Given the description of an element on the screen output the (x, y) to click on. 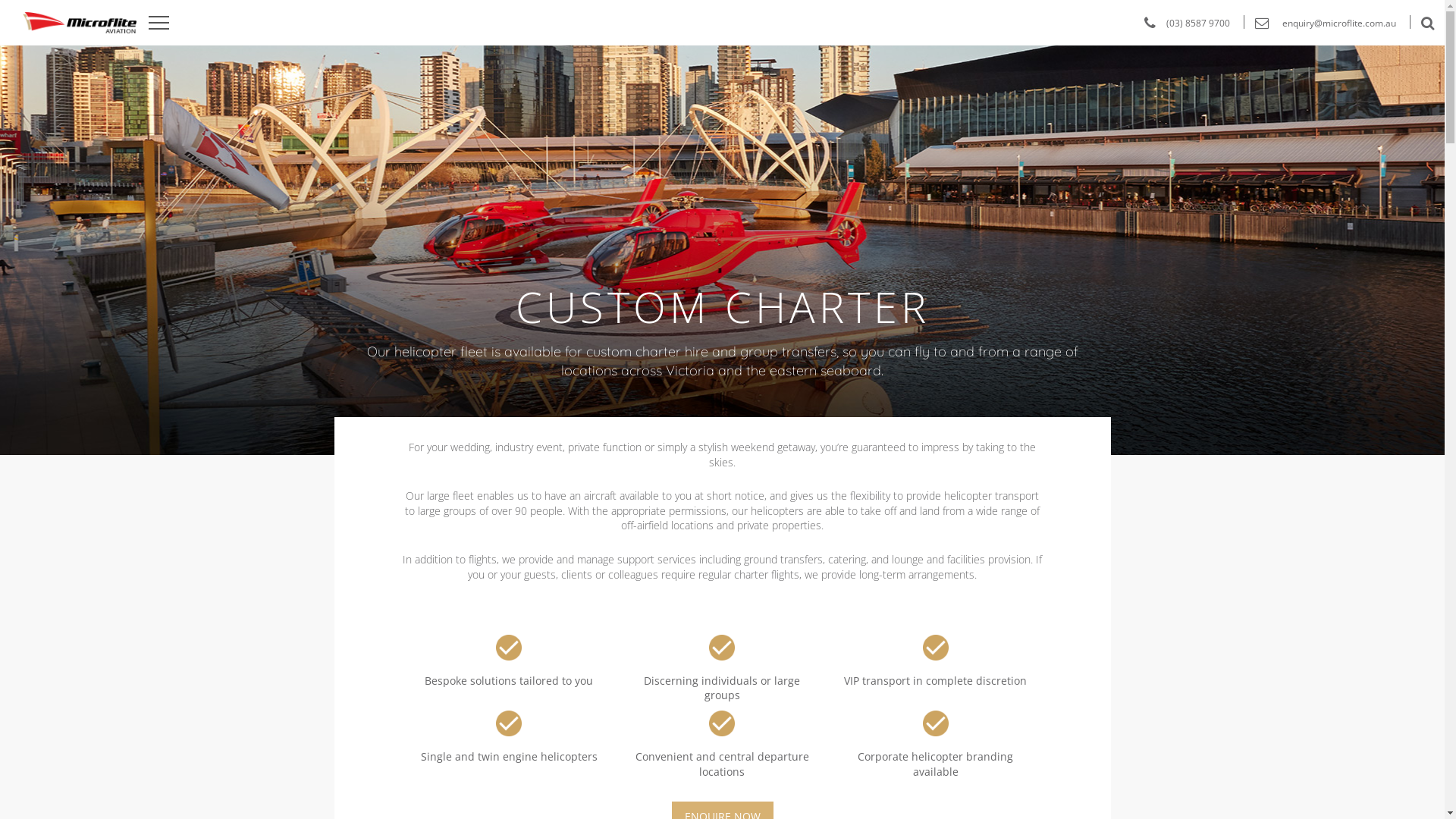
(03) 8587 9700 Element type: text (1181, 22)
enquiry@microflite.com.au Element type: text (1320, 22)
